Given the description of an element on the screen output the (x, y) to click on. 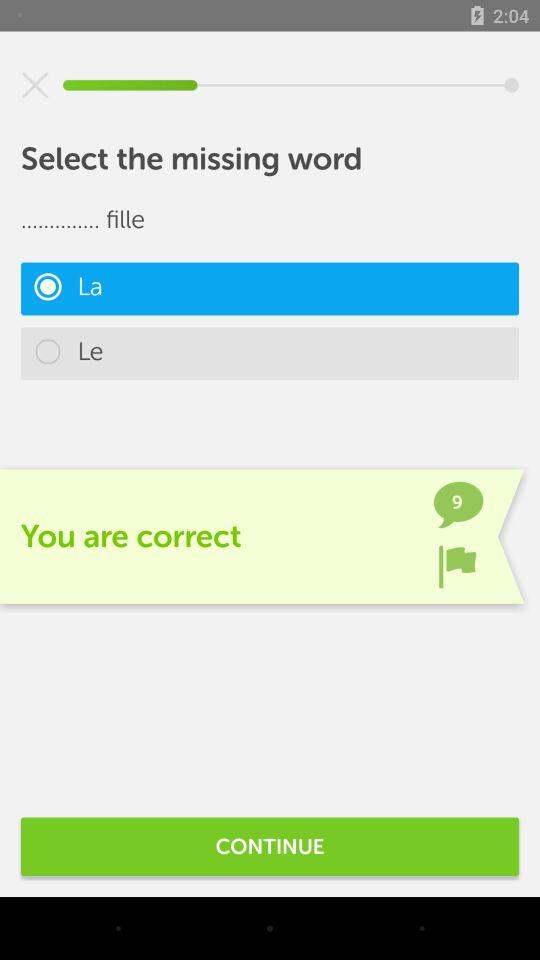
jump to le item (270, 353)
